Given the description of an element on the screen output the (x, y) to click on. 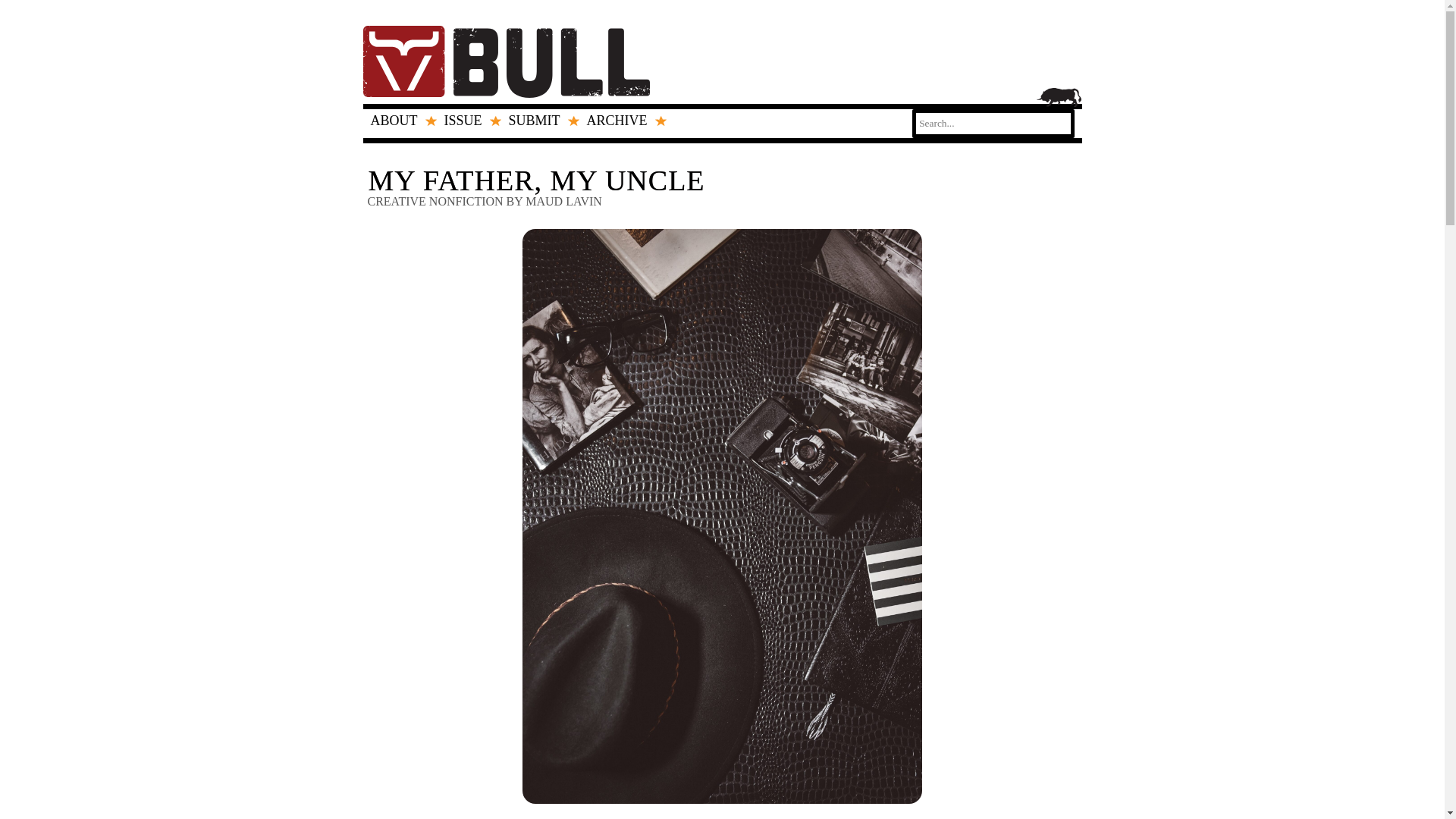
MAUD LAVIN (563, 201)
View all posts in CREATIVE NONFICTION (434, 201)
ISSUE (468, 120)
ABOUT (398, 120)
SUBMIT (539, 120)
ARCHIVE (622, 120)
CREATIVE NONFICTION (434, 201)
Search (23, 10)
Search... (993, 123)
